Given the description of an element on the screen output the (x, y) to click on. 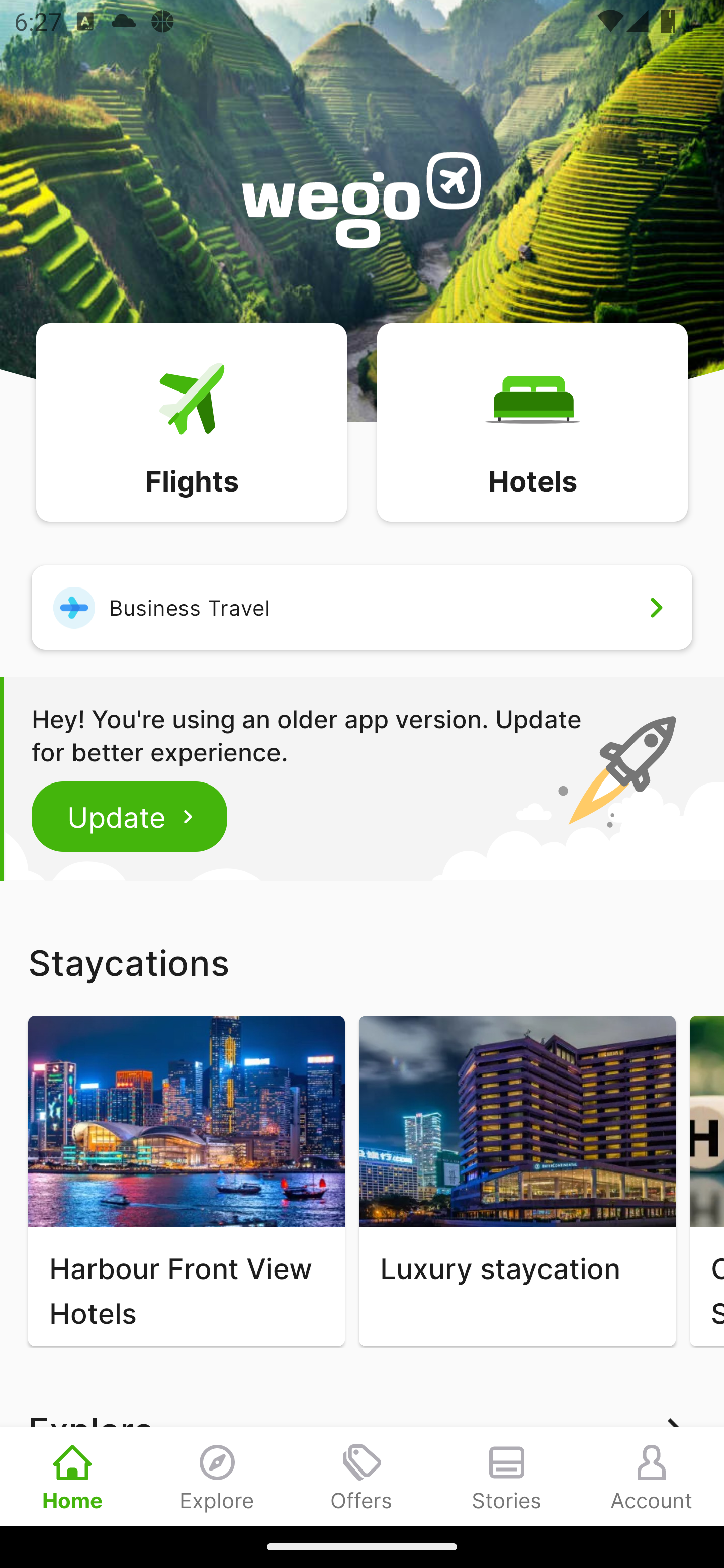
Flights (191, 420)
Hotels (532, 420)
Business Travel (361, 607)
Update (129, 815)
Staycations (362, 962)
Harbour Front View Hotels (186, 1181)
Luxury staycation (517, 1181)
Explore (216, 1475)
Offers (361, 1475)
Stories (506, 1475)
Account (651, 1475)
